Given the description of an element on the screen output the (x, y) to click on. 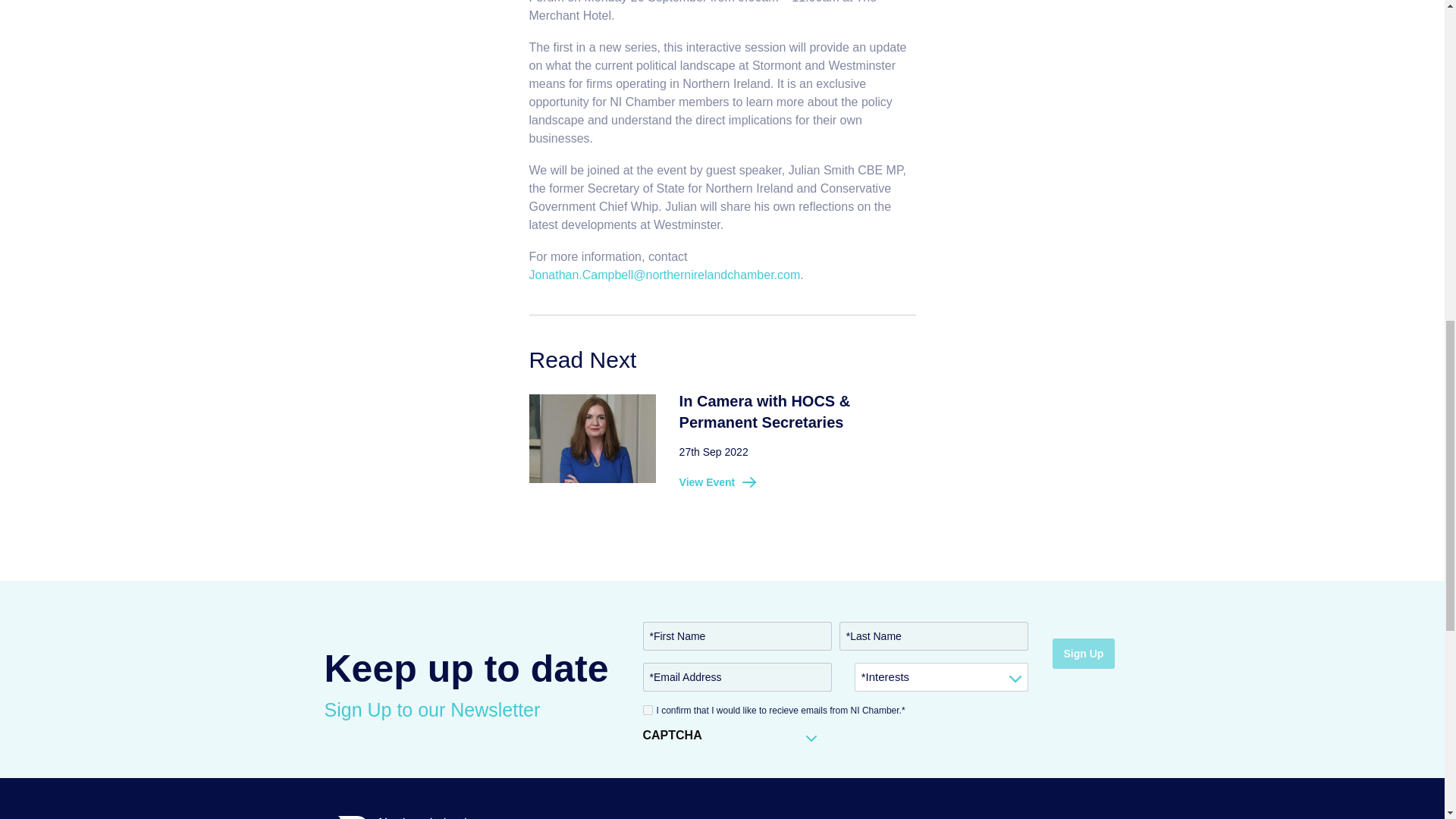
1 (647, 709)
